Given the description of an element on the screen output the (x, y) to click on. 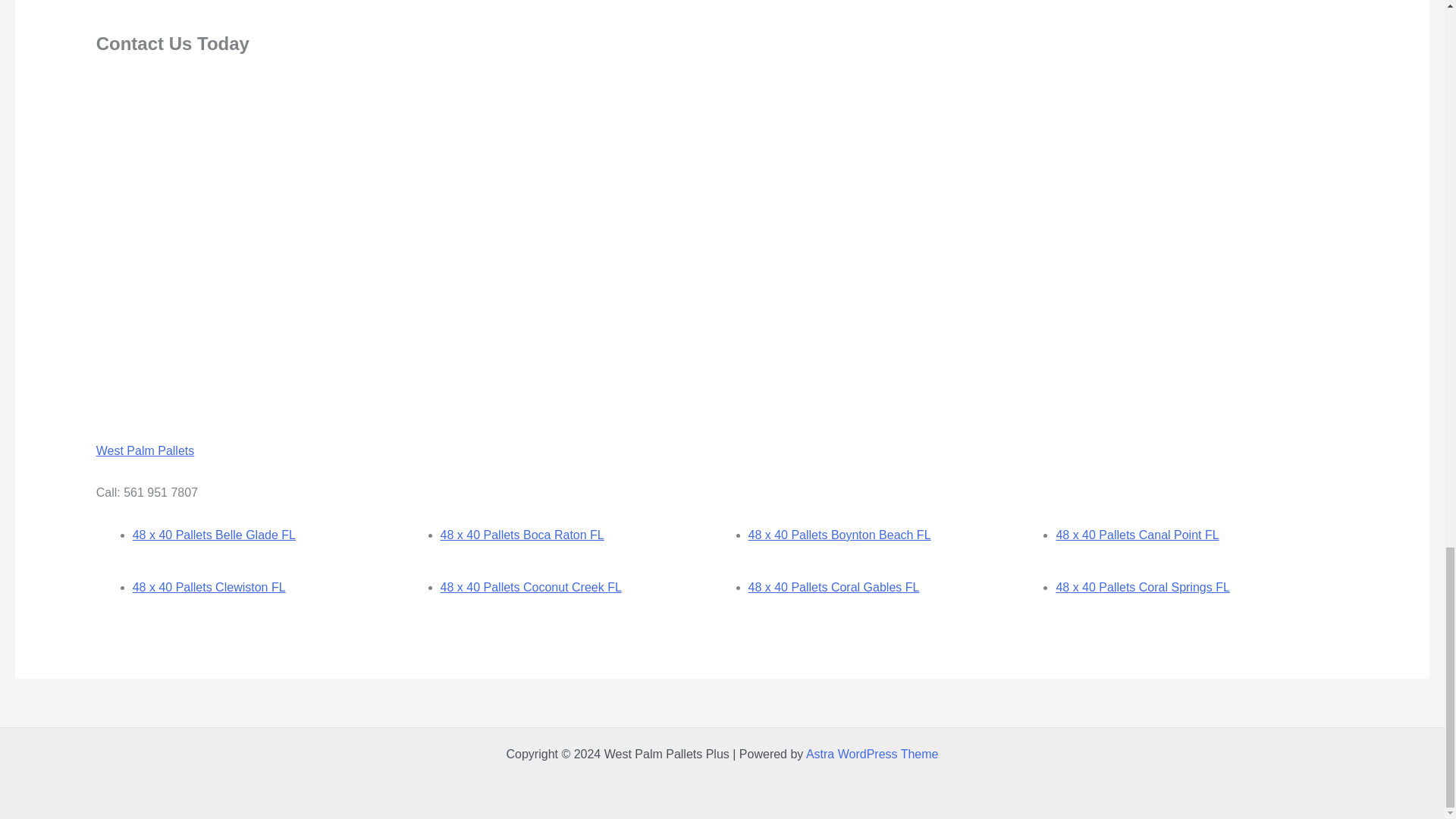
48 x 40 Pallets Coral Springs FL (1141, 586)
48 x 40 Pallets Coral Gables FL (833, 586)
48 x 40 Pallets Boynton Beach FL (839, 534)
48 x 40 Pallets Belle Glade FL (213, 534)
48 x 40 Pallets Boca Raton FL (522, 534)
48 x 40 Pallets Canal Point FL (1136, 534)
48 x 40 Pallets Coconut Creek FL (531, 586)
48 x 40 Pallets Clewiston FL (208, 586)
